Given the description of an element on the screen output the (x, y) to click on. 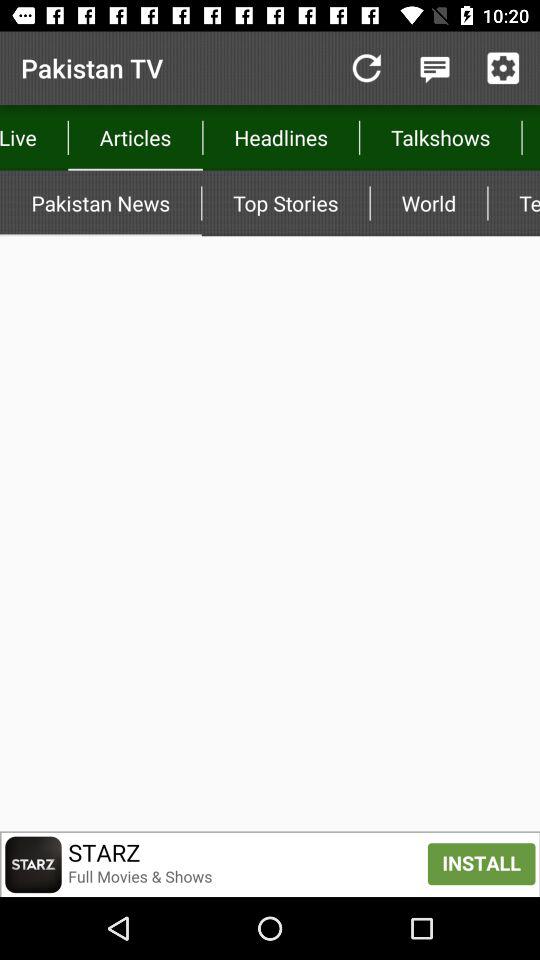
go to settings (503, 67)
